Given the description of an element on the screen output the (x, y) to click on. 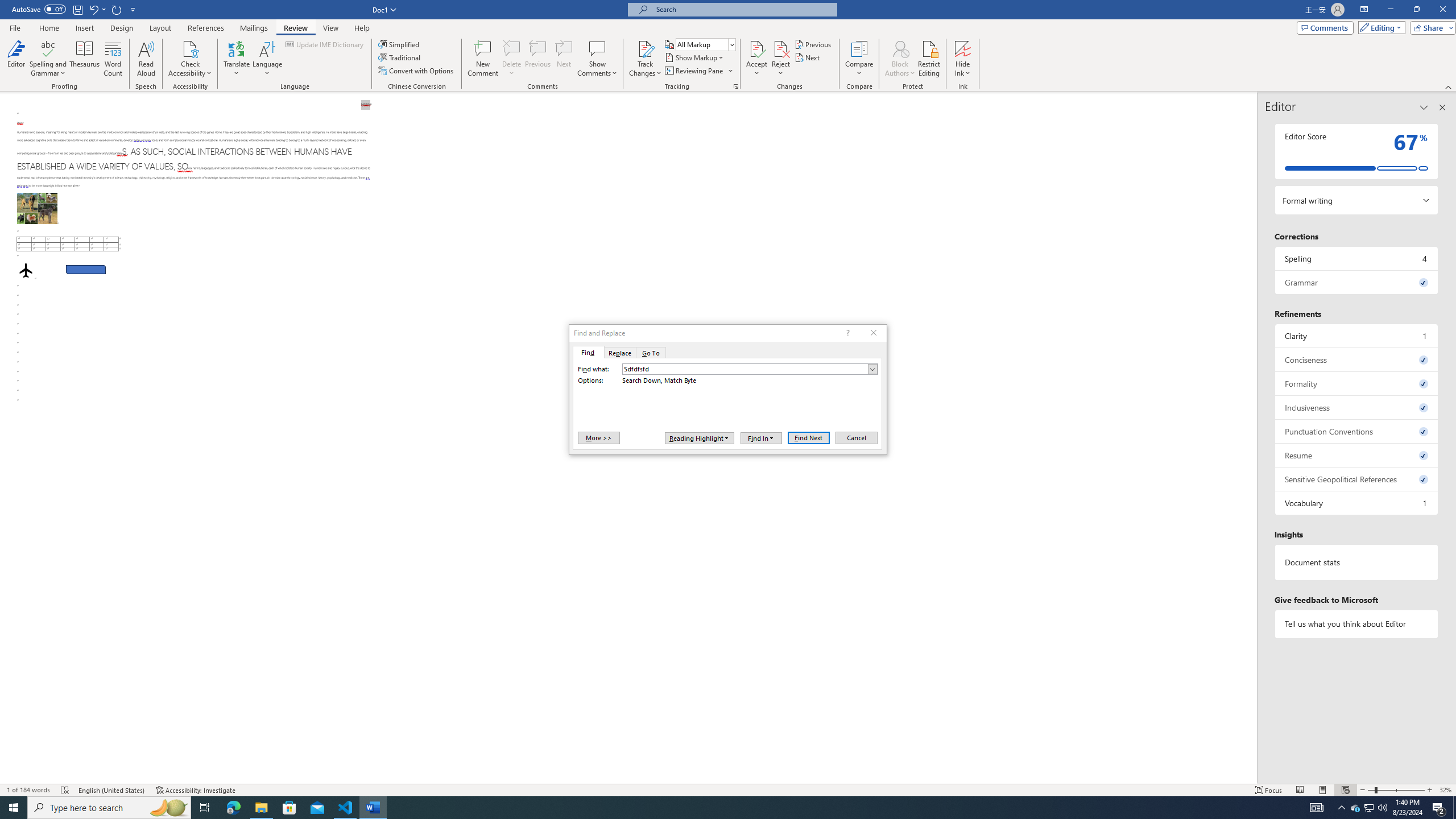
Spelling, 4 issues. Press space or enter to review items. (1356, 258)
Show Comments (597, 48)
Accept (756, 58)
Check Accessibility (189, 58)
Reject and Move to Next (780, 48)
Simplified (400, 44)
Formality, 0 issues. Press space or enter to review items. (1356, 383)
Document statistics (1356, 561)
Track Changes (644, 48)
